Given the description of an element on the screen output the (x, y) to click on. 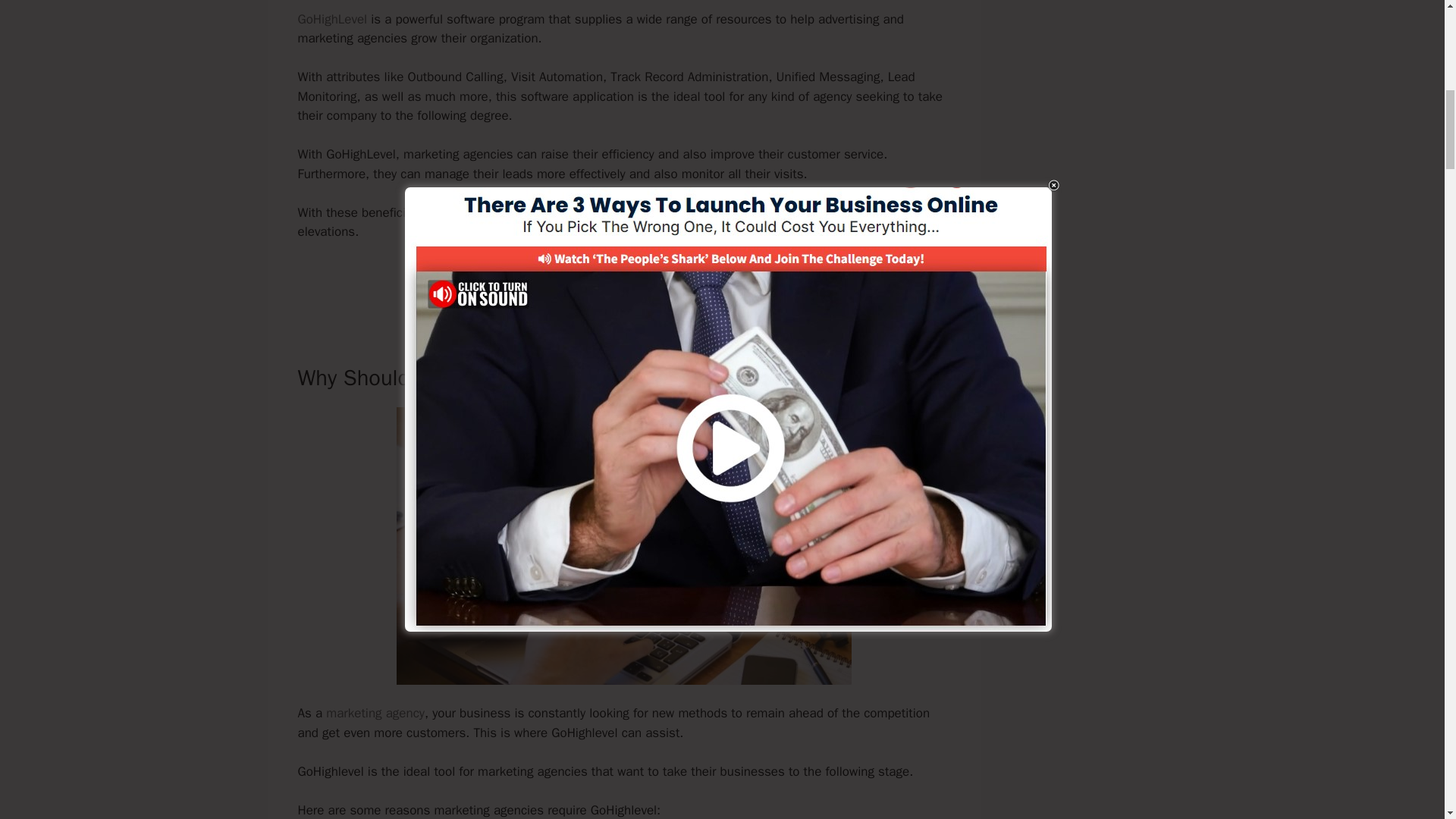
marketing agency (375, 713)
GoHighLevel (331, 19)
Go Here To See HighLevel In Action (623, 283)
